Given the description of an element on the screen output the (x, y) to click on. 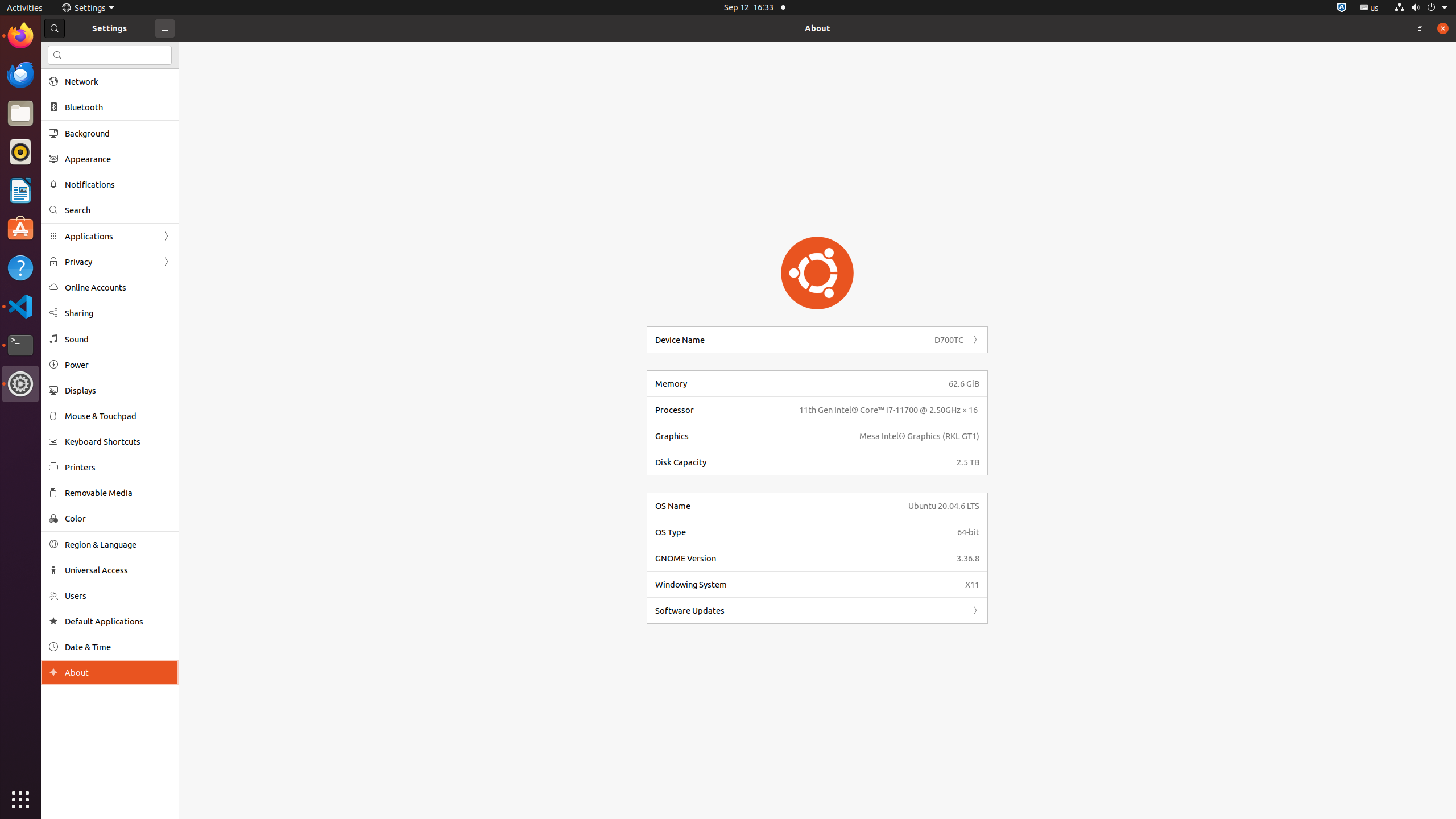
Region & Language Element type: label (117, 544)
Appearance Element type: label (117, 158)
Ubuntu 20.04.6 LTS Element type: label (943, 505)
